Given the description of an element on the screen output the (x, y) to click on. 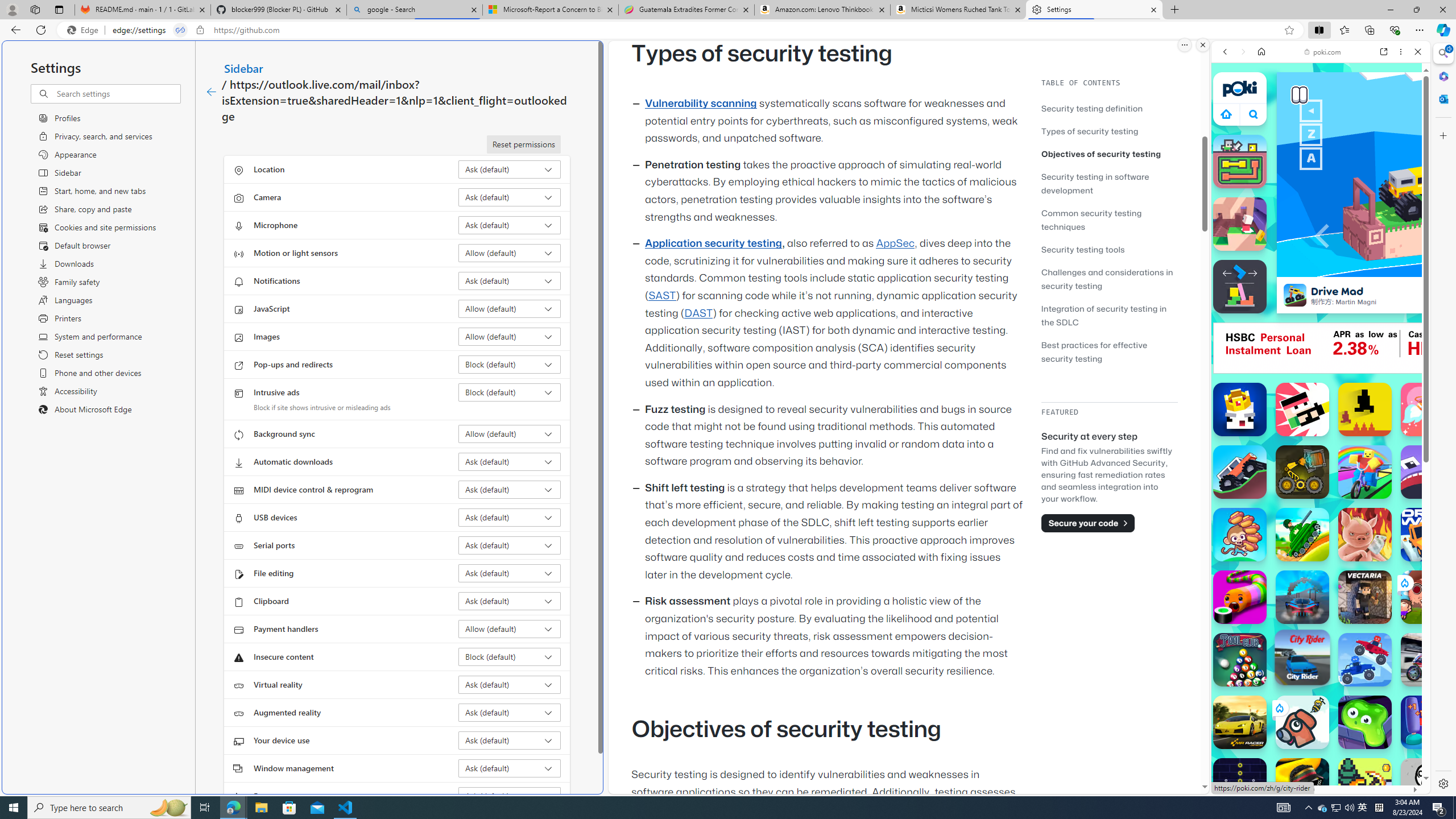
Poki - Free Online Games - Play Now! (1315, 175)
Two Player Games (1320, 323)
Combat Reloaded (1349, 580)
Security testing definition (1091, 108)
Common security testing techniques (1091, 219)
Class: hvLtMSipvVng82x9Seuh (1294, 295)
Objectives of security testing (1101, 153)
Click to scroll right (1407, 549)
poki.com (1322, 51)
